Given the description of an element on the screen output the (x, y) to click on. 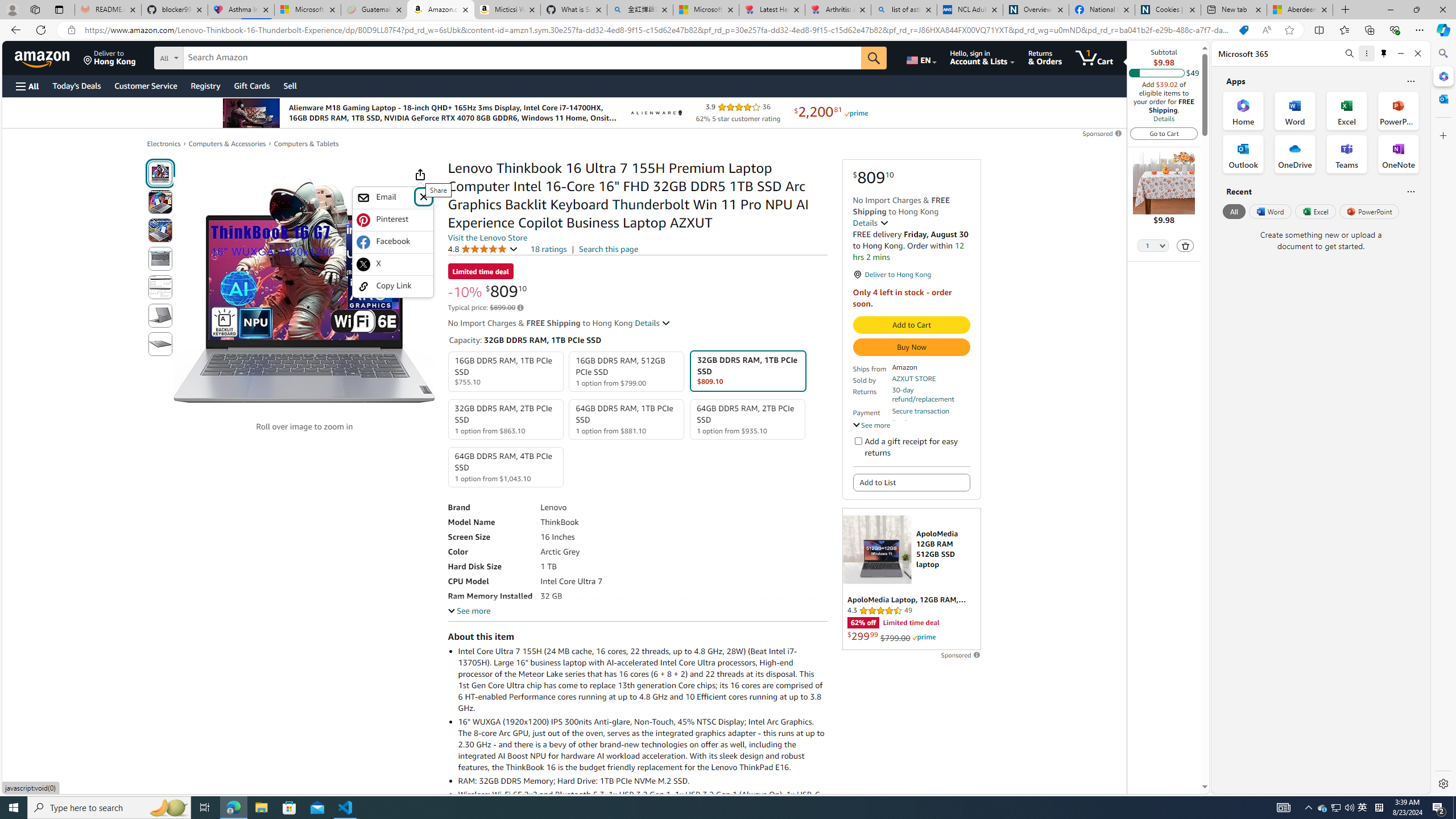
RAM: 32GB DDR5 Memory; Hard Drive: 1TB PCIe NVMe M.2 SSD. (642, 780)
Returns & Orders (1045, 57)
Word Office App (1295, 110)
Today's Deals (76, 85)
64GB DDR5 RAM, 4TB PCIe SSD 1 option from $1,043.10 (505, 466)
Secure transaction (920, 411)
Copy Link (392, 286)
All (1233, 210)
Prime (923, 637)
X (392, 264)
Gift Cards (251, 85)
32GB DDR5 RAM, 1TB PCIe SSD $809.10 (747, 370)
